Given the description of an element on the screen output the (x, y) to click on. 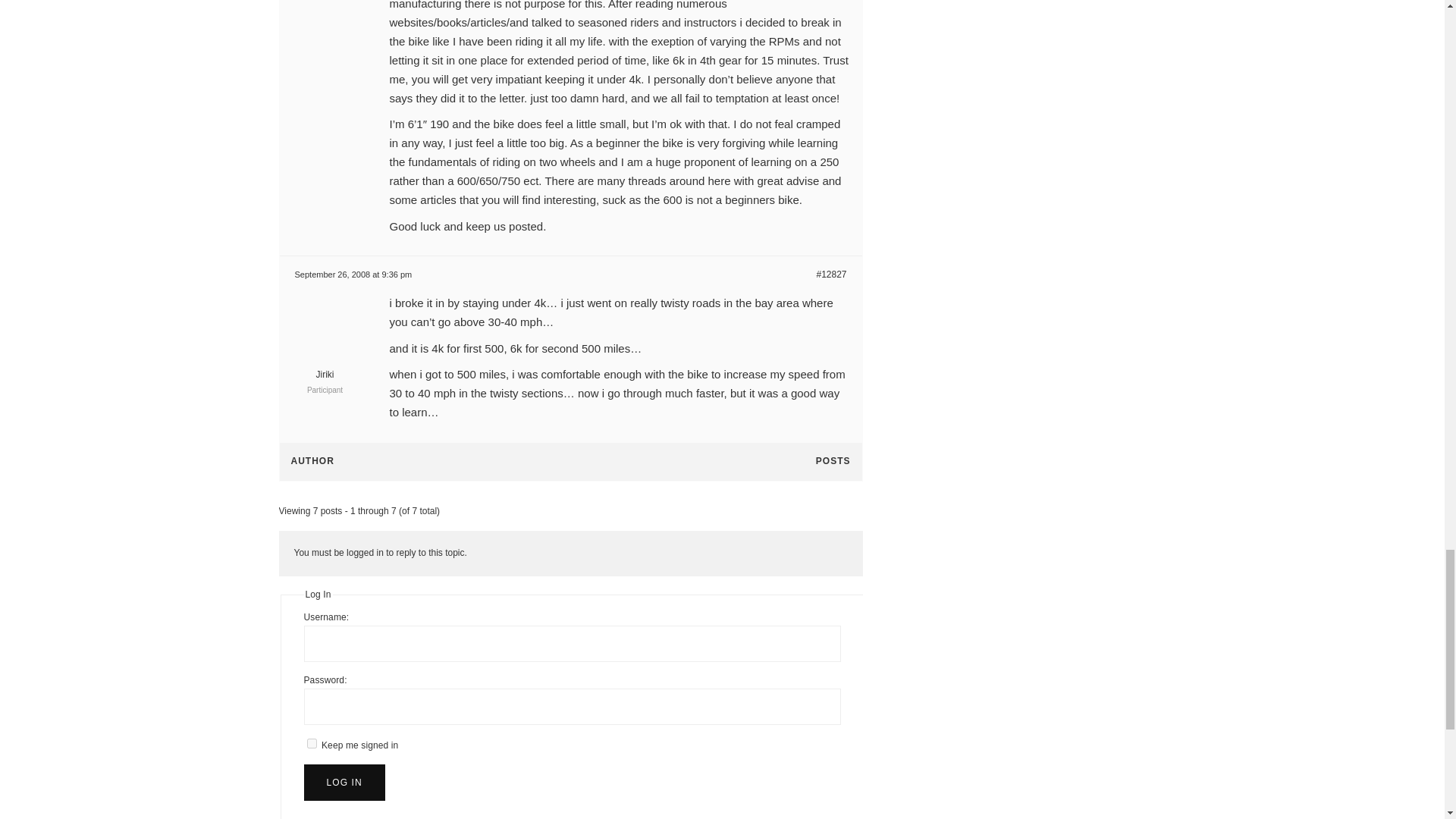
View Jiriki's profile (324, 366)
forever (310, 743)
